Given the description of an element on the screen output the (x, y) to click on. 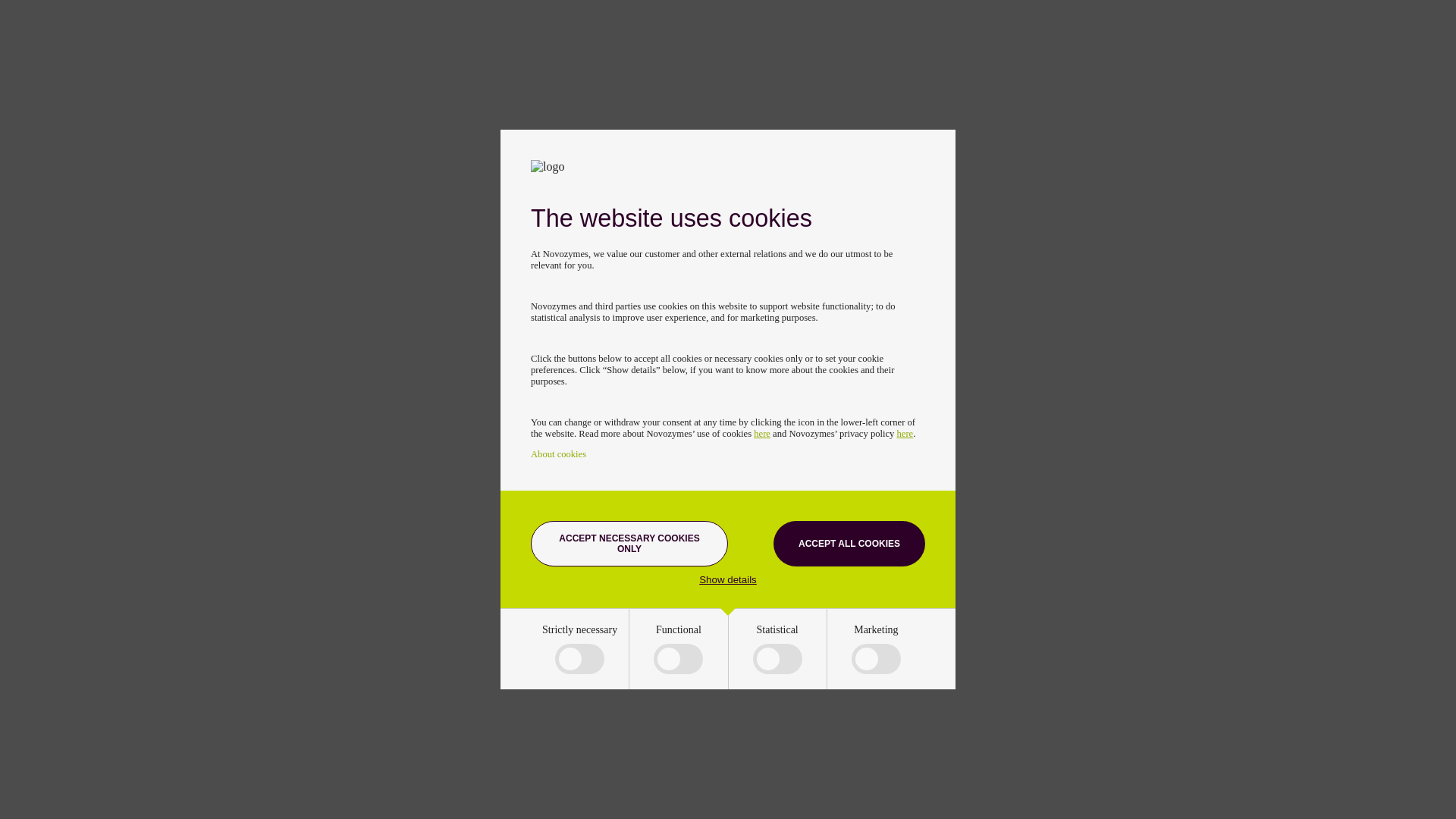
here (762, 433)
here (905, 433)
ACCEPT ALL COOKIES (848, 543)
About cookies (558, 453)
Show details (727, 579)
ACCEPT NECESSARY COOKIES ONLY (629, 543)
